Given the description of an element on the screen output the (x, y) to click on. 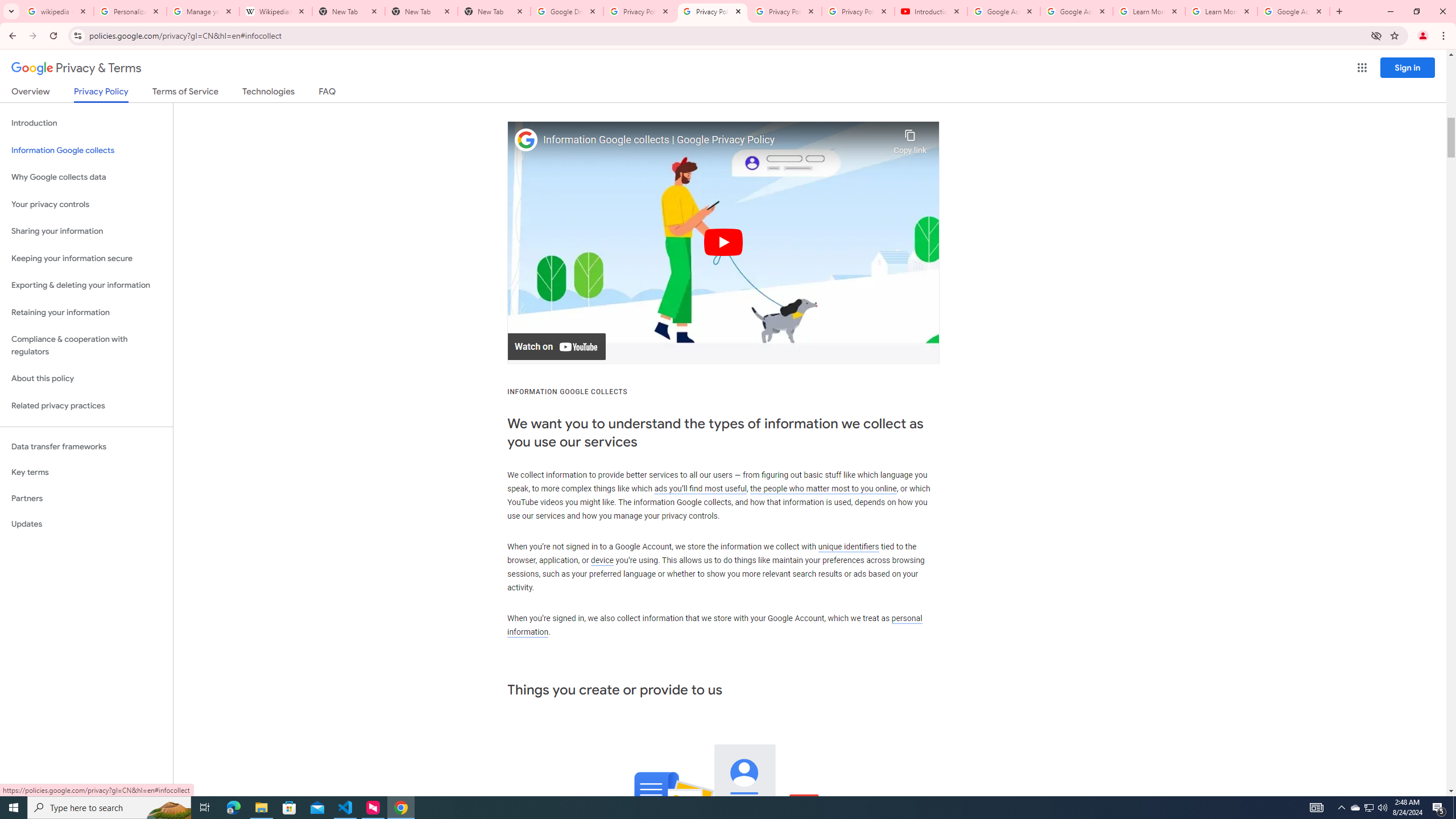
Introduction | Google Privacy Policy - YouTube (930, 11)
personal information (714, 625)
unique identifiers (848, 546)
Google Account Help (1076, 11)
Your privacy controls (86, 204)
device (601, 560)
Retaining your information (86, 312)
